Given the description of an element on the screen output the (x, y) to click on. 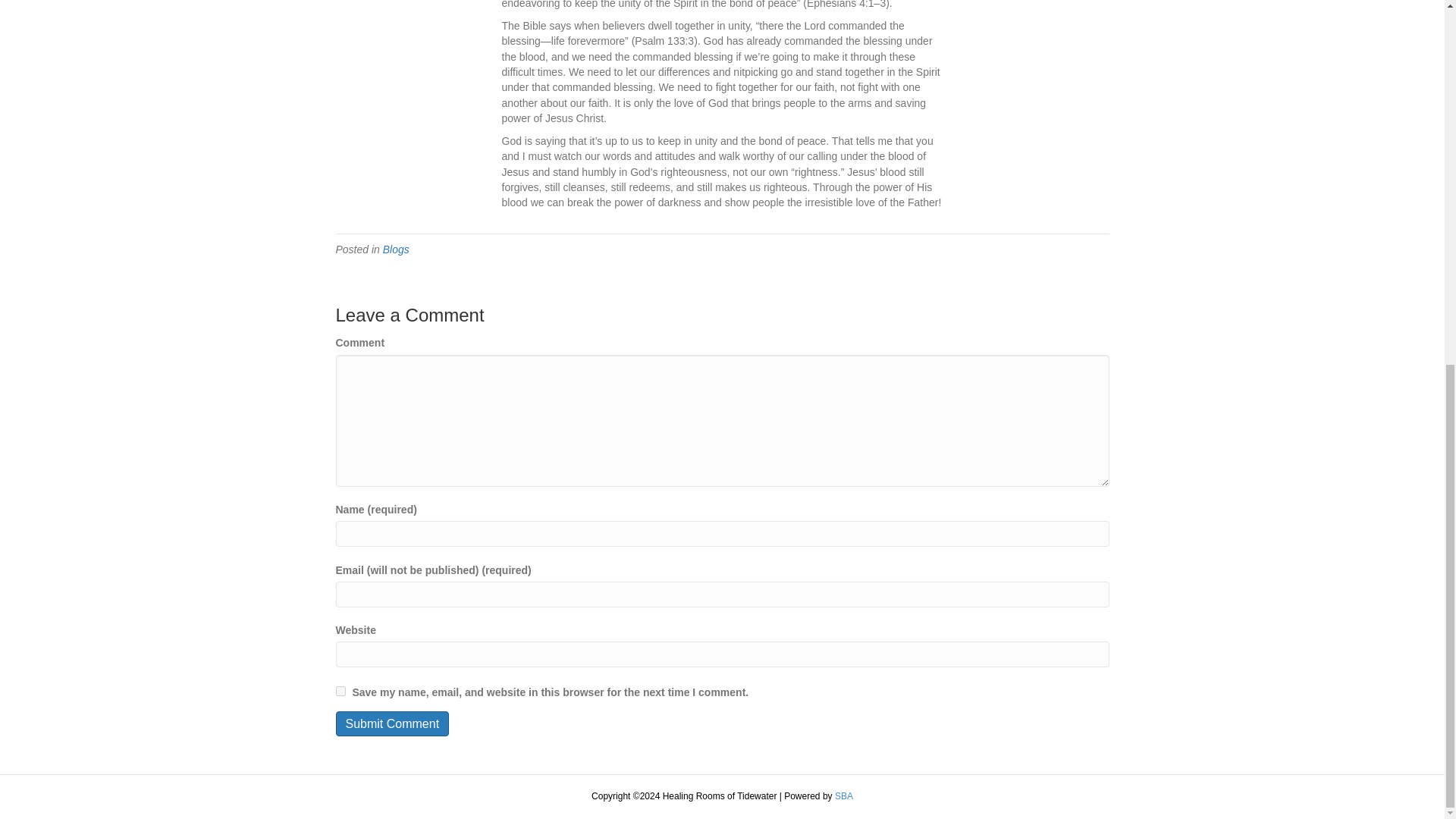
Submit Comment (391, 723)
yes (339, 691)
Blogs (395, 249)
SBA (843, 796)
Submit Comment (391, 723)
